Given the description of an element on the screen output the (x, y) to click on. 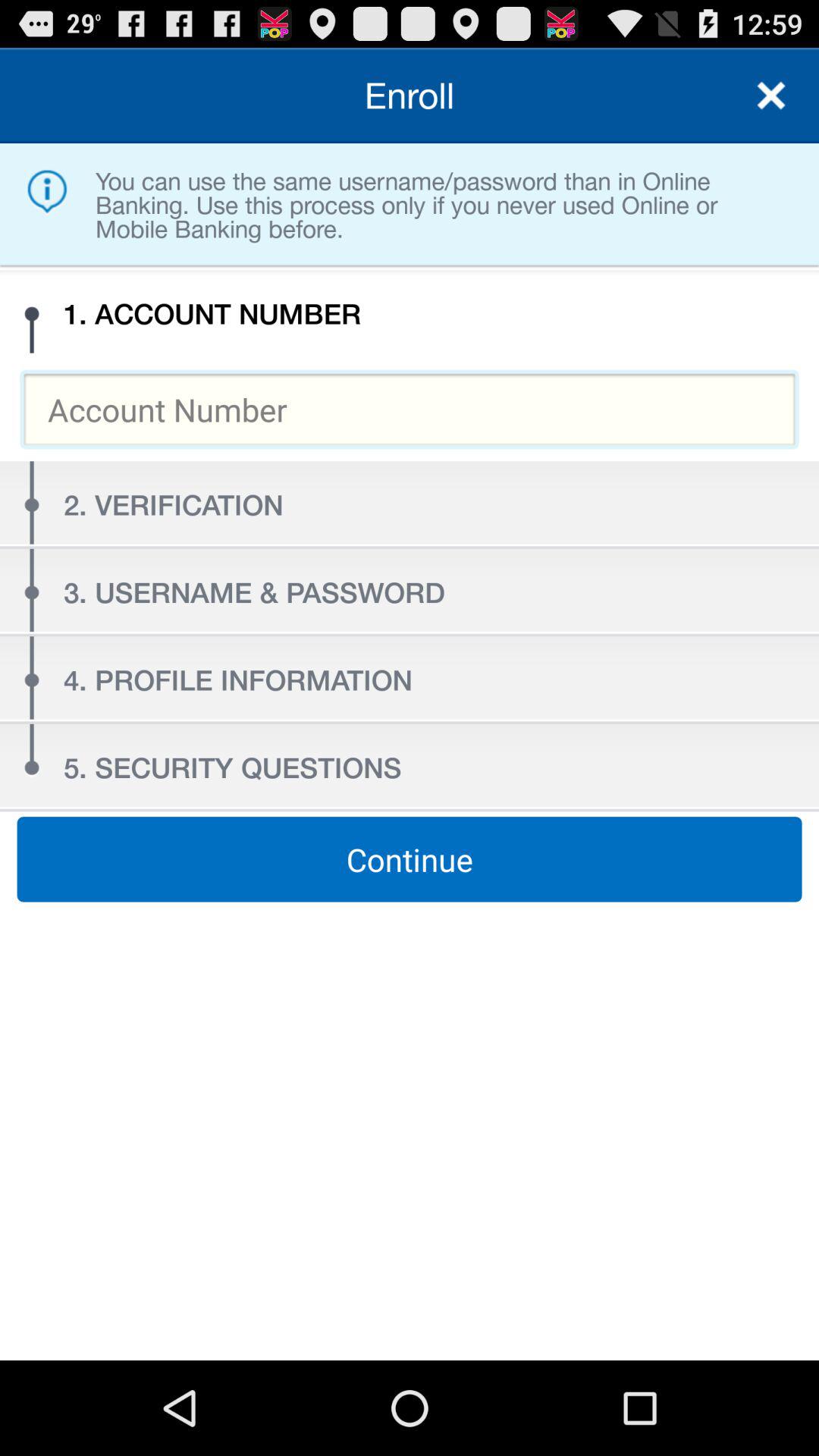
flip to the enroll item (409, 95)
